Given the description of an element on the screen output the (x, y) to click on. 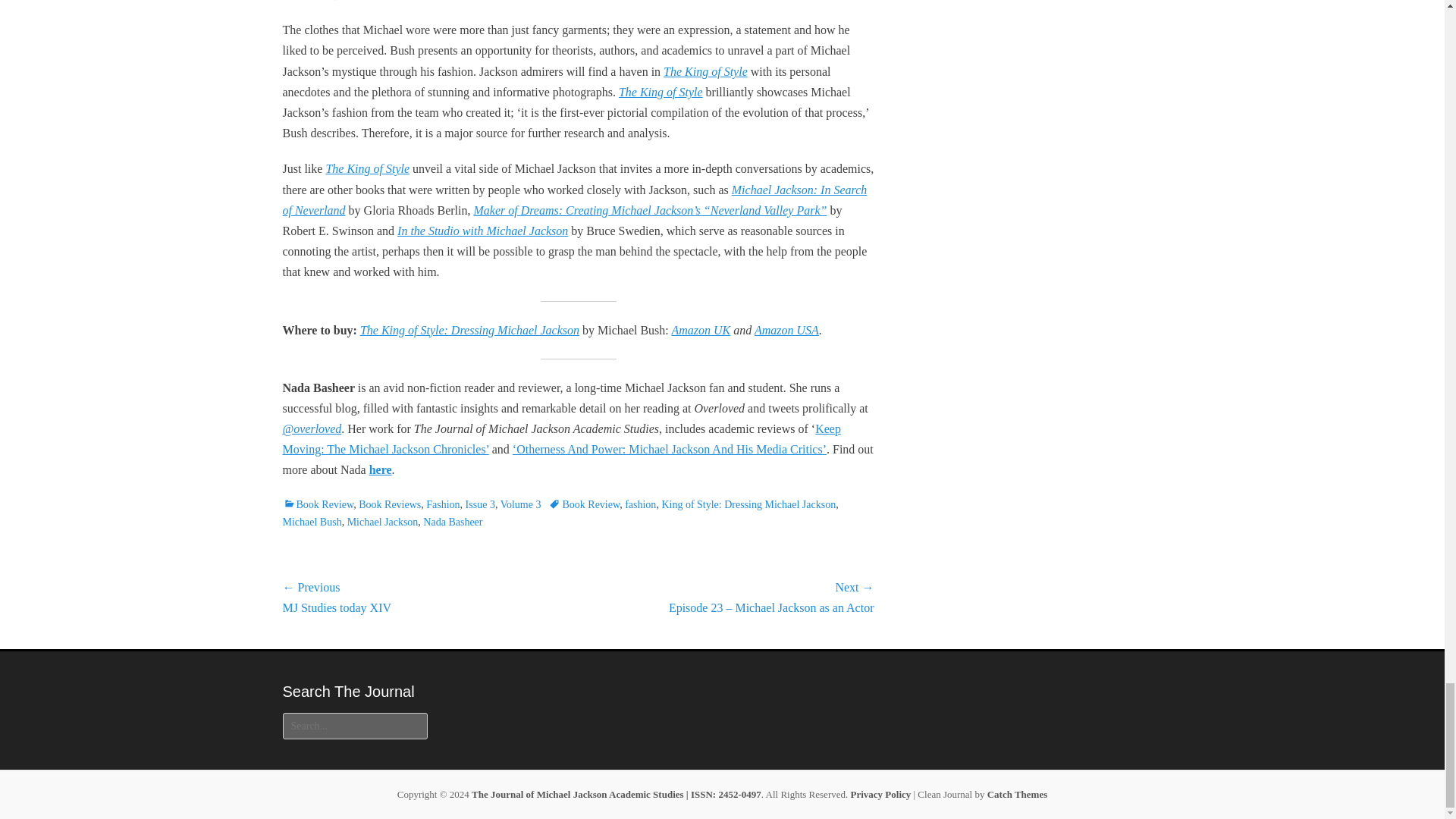
The King of Style (366, 168)
The King of Style (660, 91)
The King of Style (705, 71)
Search for: (354, 726)
Michael Jackson: In Search of Neverland (574, 200)
